Given the description of an element on the screen output the (x, y) to click on. 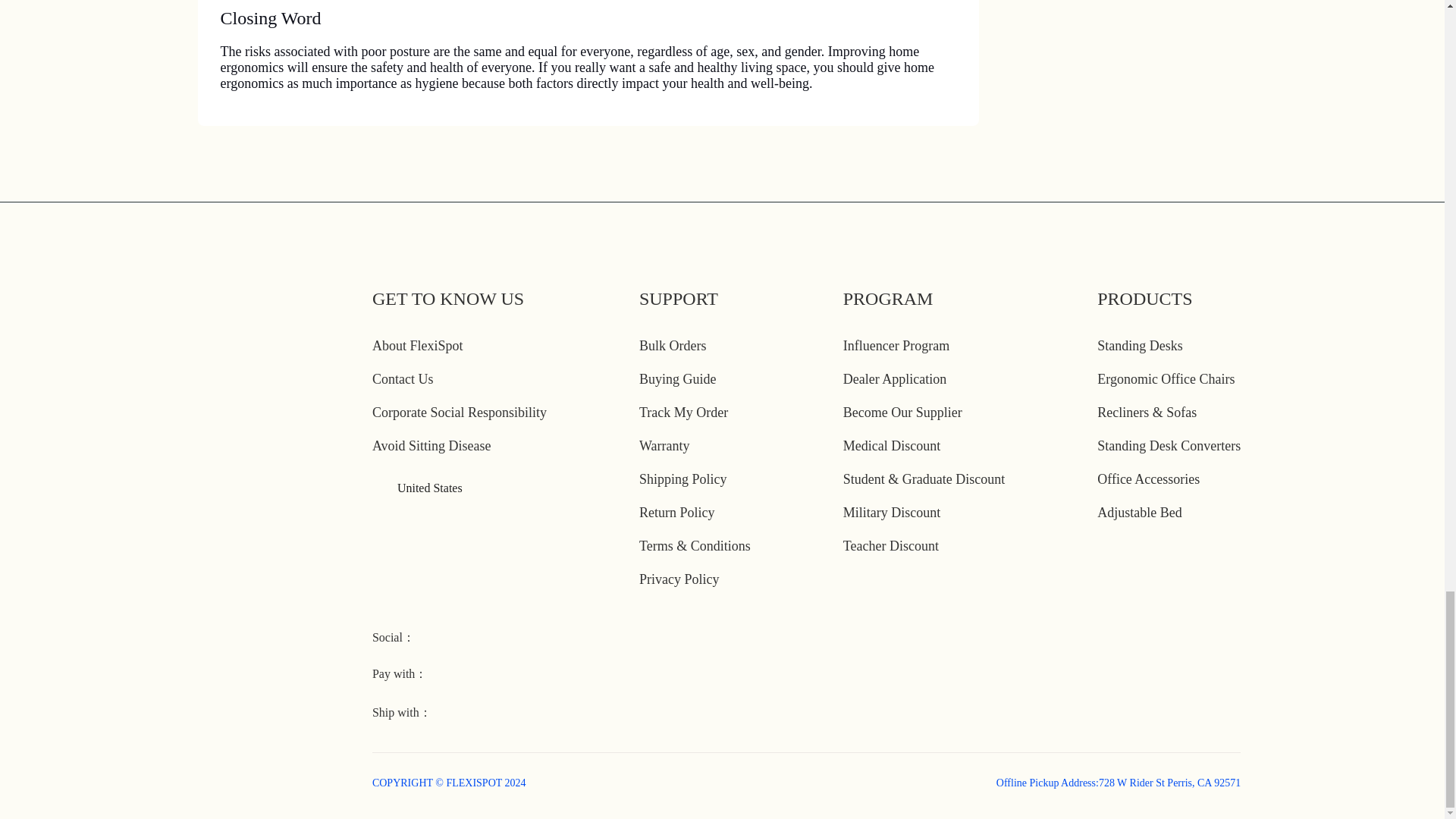
Teacher Discount (891, 545)
Dealer Application (894, 378)
Warranty (664, 445)
Adjustable Bed (1138, 512)
Return Policy (676, 512)
Office Accessories (1148, 478)
Shipping Policy (682, 478)
Bulk Orders (672, 345)
Buying Guide (677, 378)
Standing Desks (1139, 345)
Corporate Social Responsibility (459, 412)
Medical Discount (891, 445)
Become Our Supplier (902, 412)
Contact Us (402, 378)
Military Discount (891, 512)
